Given the description of an element on the screen output the (x, y) to click on. 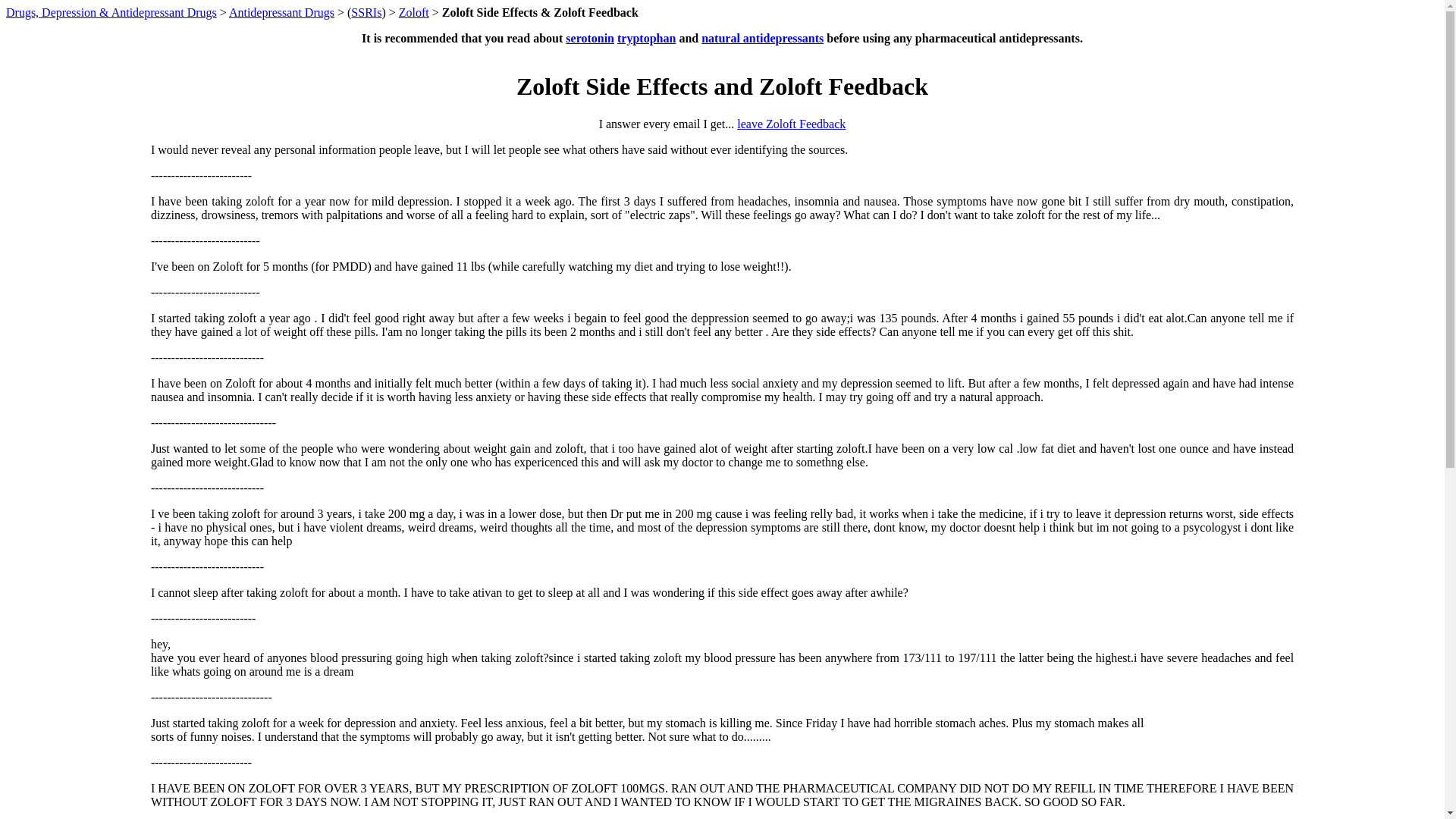
serotonin Element type: text (589, 37)
Drugs, Depression & Antidepressant Drugs Element type: text (111, 12)
Zoloft Element type: text (413, 12)
leave Zoloft Feedback Element type: text (791, 123)
natural antidepressants Element type: text (762, 37)
Antidepressant Drugs Element type: text (281, 12)
SSRIs Element type: text (366, 12)
tryptophan Element type: text (646, 37)
